Given the description of an element on the screen output the (x, y) to click on. 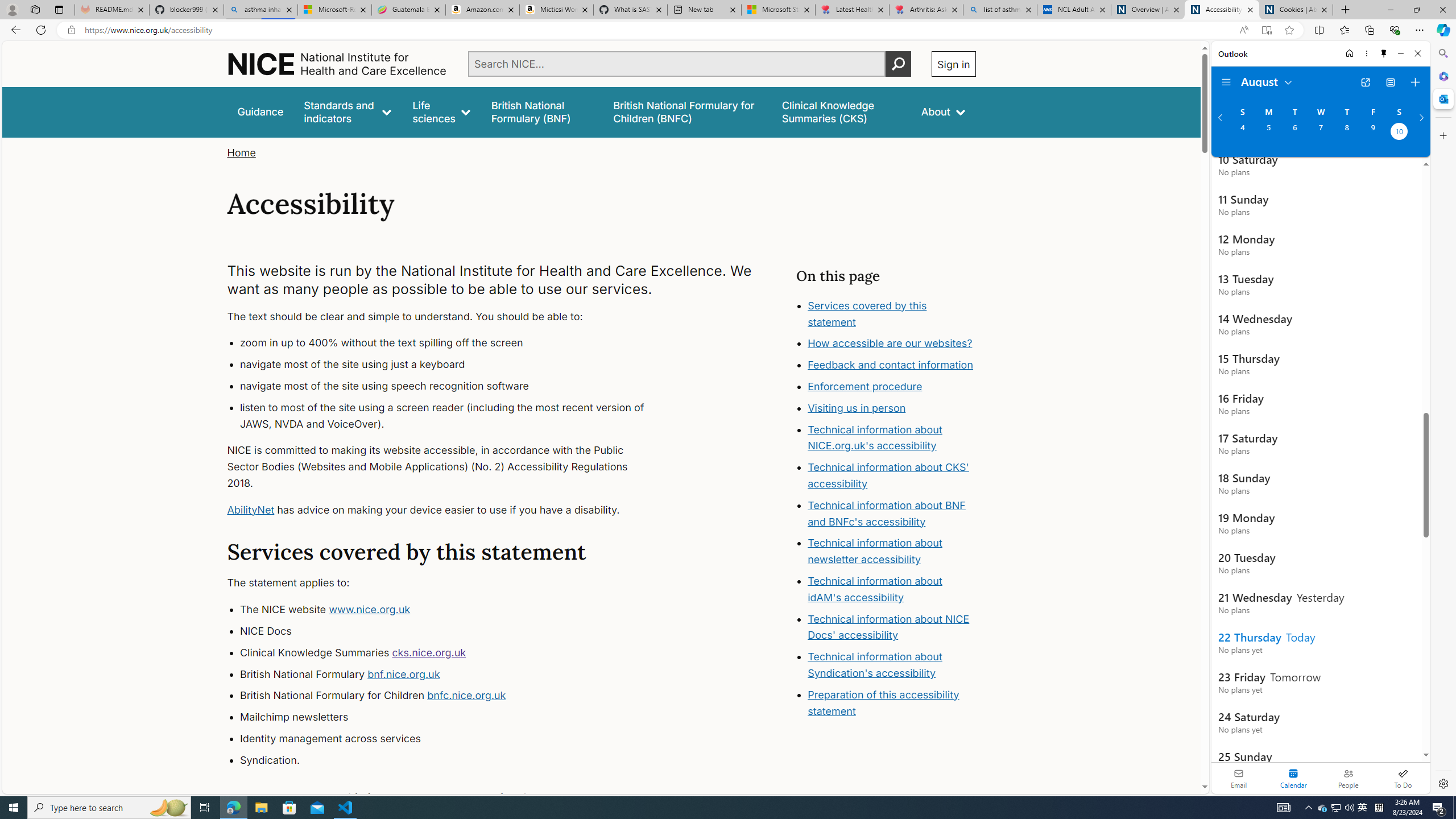
About (942, 111)
Preparation of this accessibility statement (883, 702)
Cookies | About | NICE (1295, 9)
bnfc.nice.org.uk (466, 695)
How accessible are our websites? (890, 343)
Life sciences (440, 111)
Monday, August 5, 2024.  (1268, 132)
Open in new tab (1365, 82)
Perform search (898, 63)
